Given the description of an element on the screen output the (x, y) to click on. 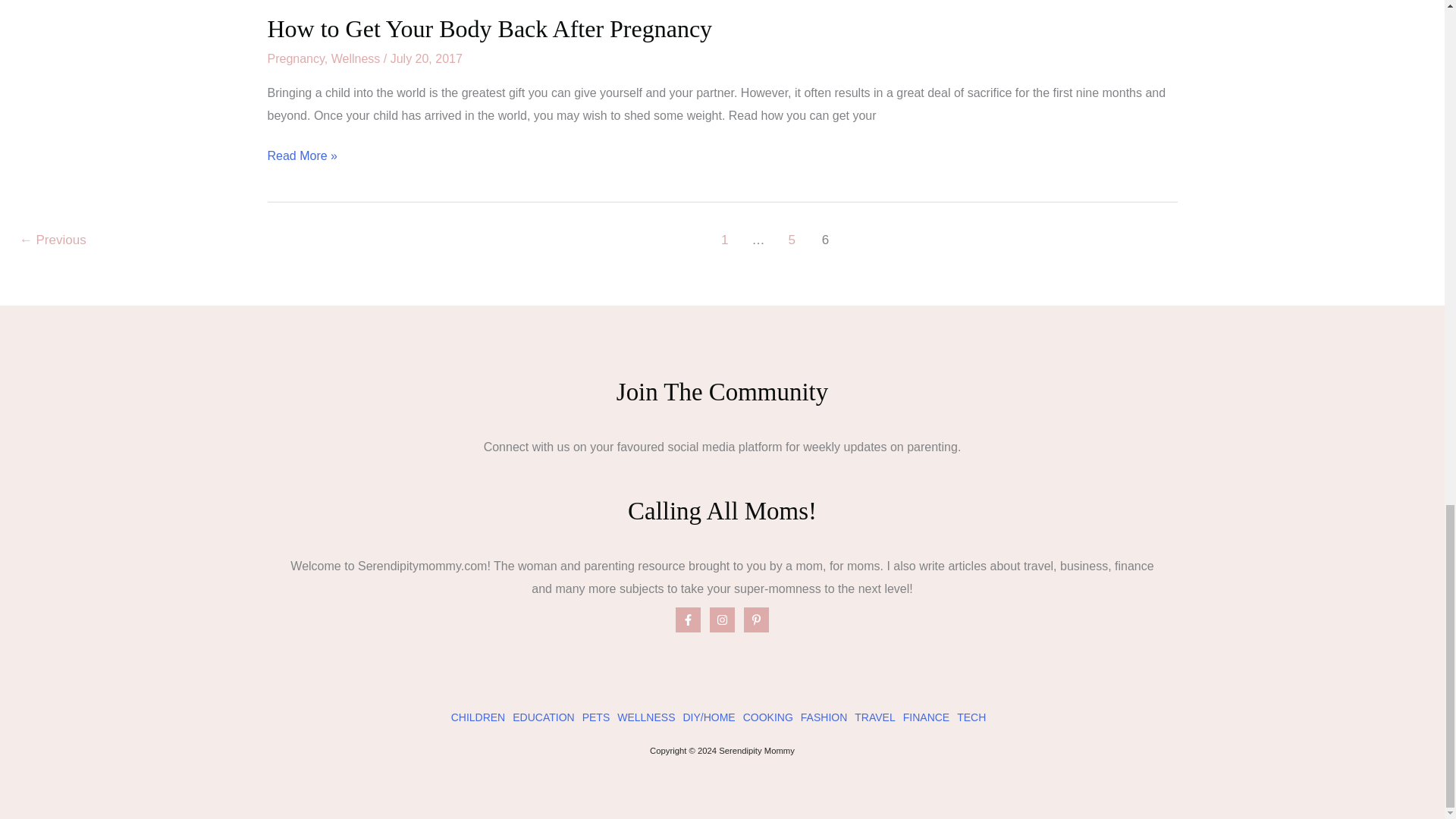
WELLNESS (646, 717)
EDUCATION (542, 717)
TRAVEL (874, 717)
PETS (596, 717)
FINANCE (925, 717)
5 (791, 241)
How to Get Your Body Back After Pregnancy (488, 28)
Wellness (355, 58)
Pregnancy (294, 58)
1 (724, 241)
